Given the description of an element on the screen output the (x, y) to click on. 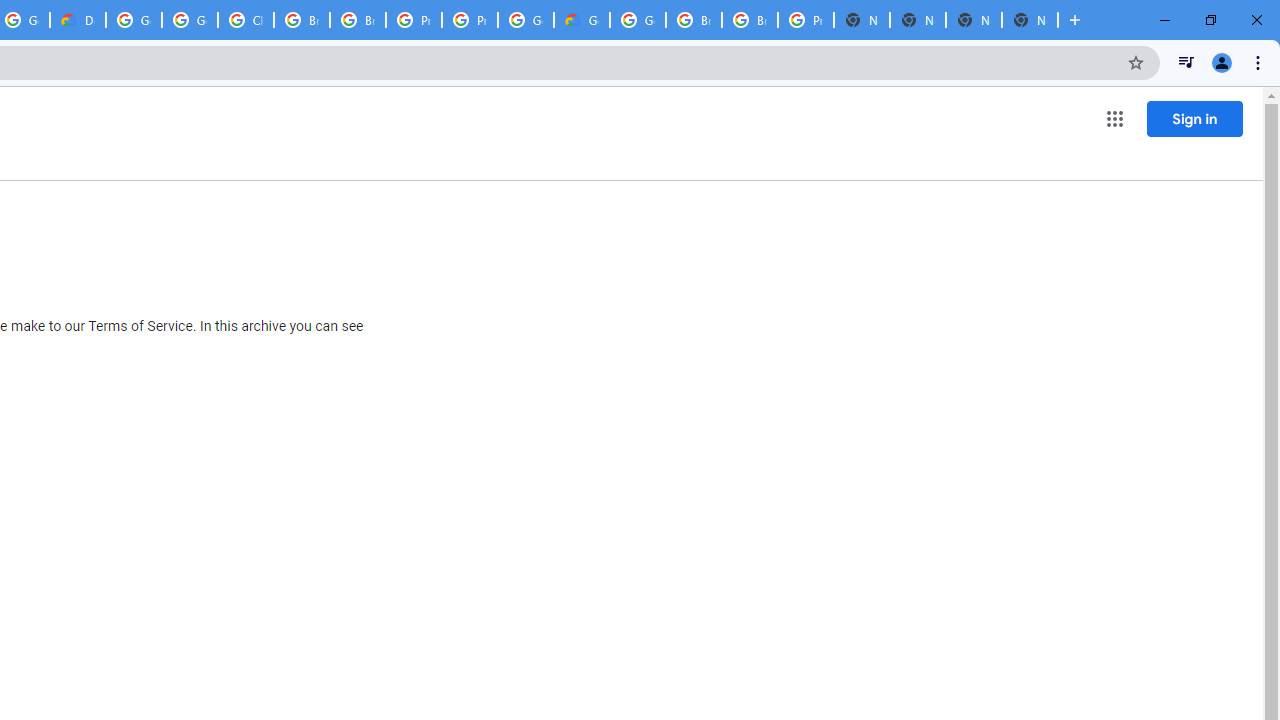
New Tab (973, 20)
Google Cloud Platform (134, 20)
